Given the description of an element on the screen output the (x, y) to click on. 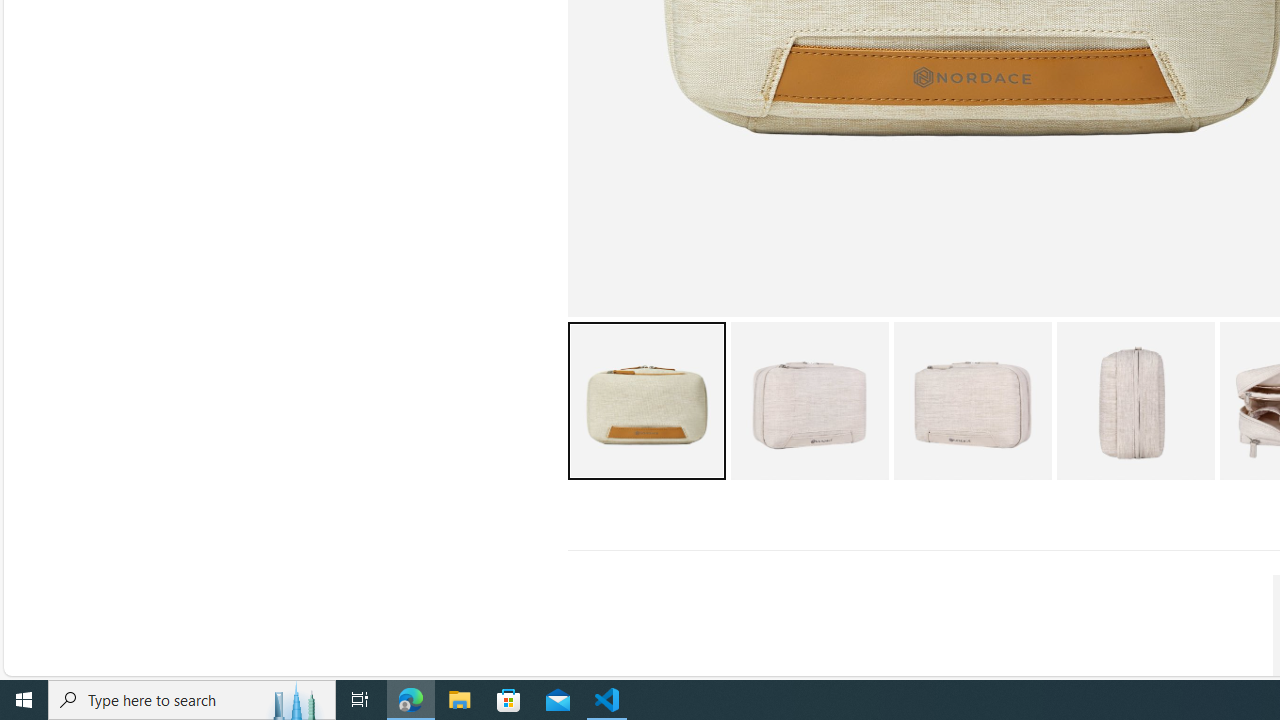
Trousse de Toilette Nordace Siena Pro (1135, 400)
